Given the description of an element on the screen output the (x, y) to click on. 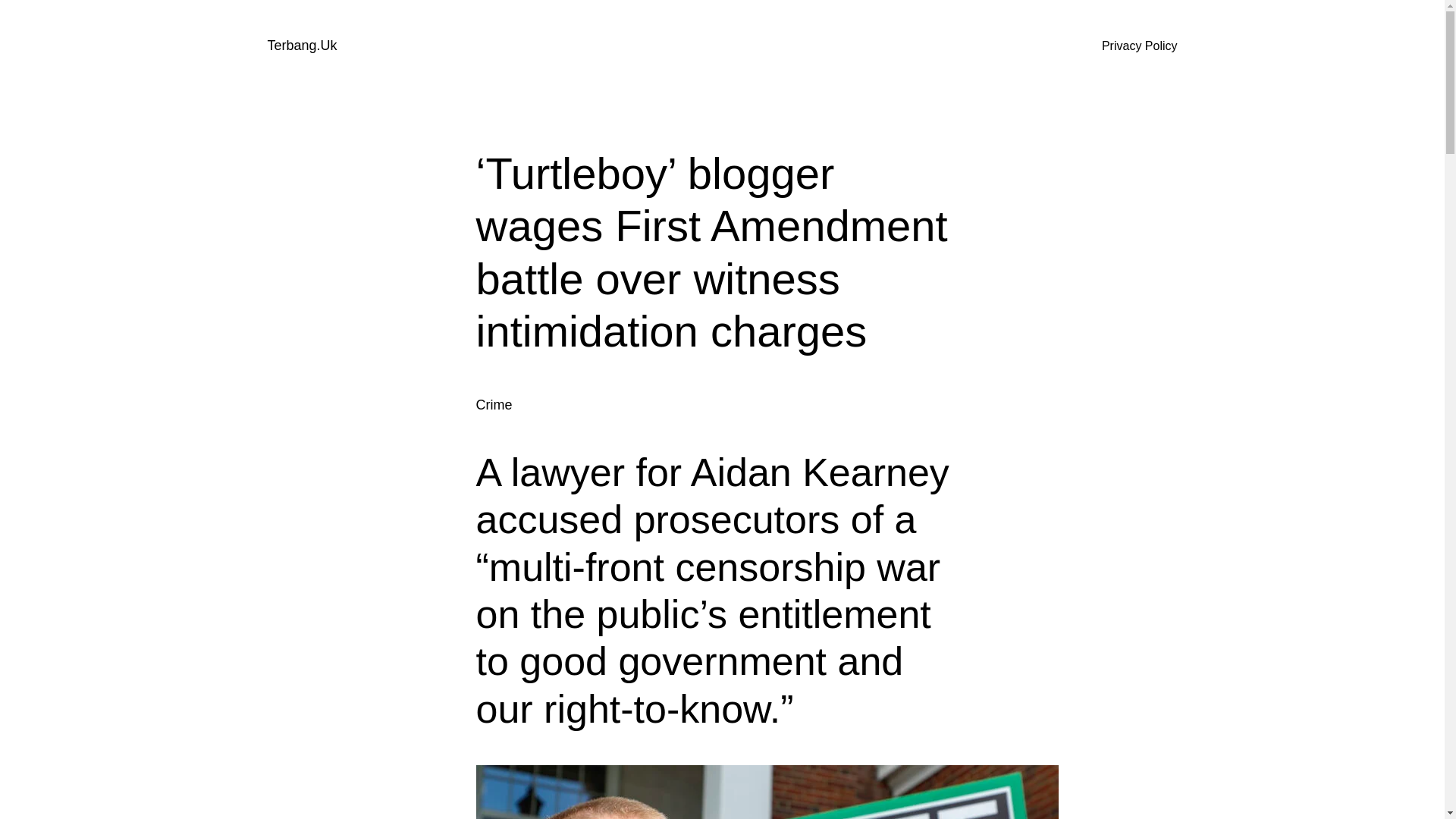
Terbang.Uk (301, 45)
Privacy Policy (1139, 46)
